Given the description of an element on the screen output the (x, y) to click on. 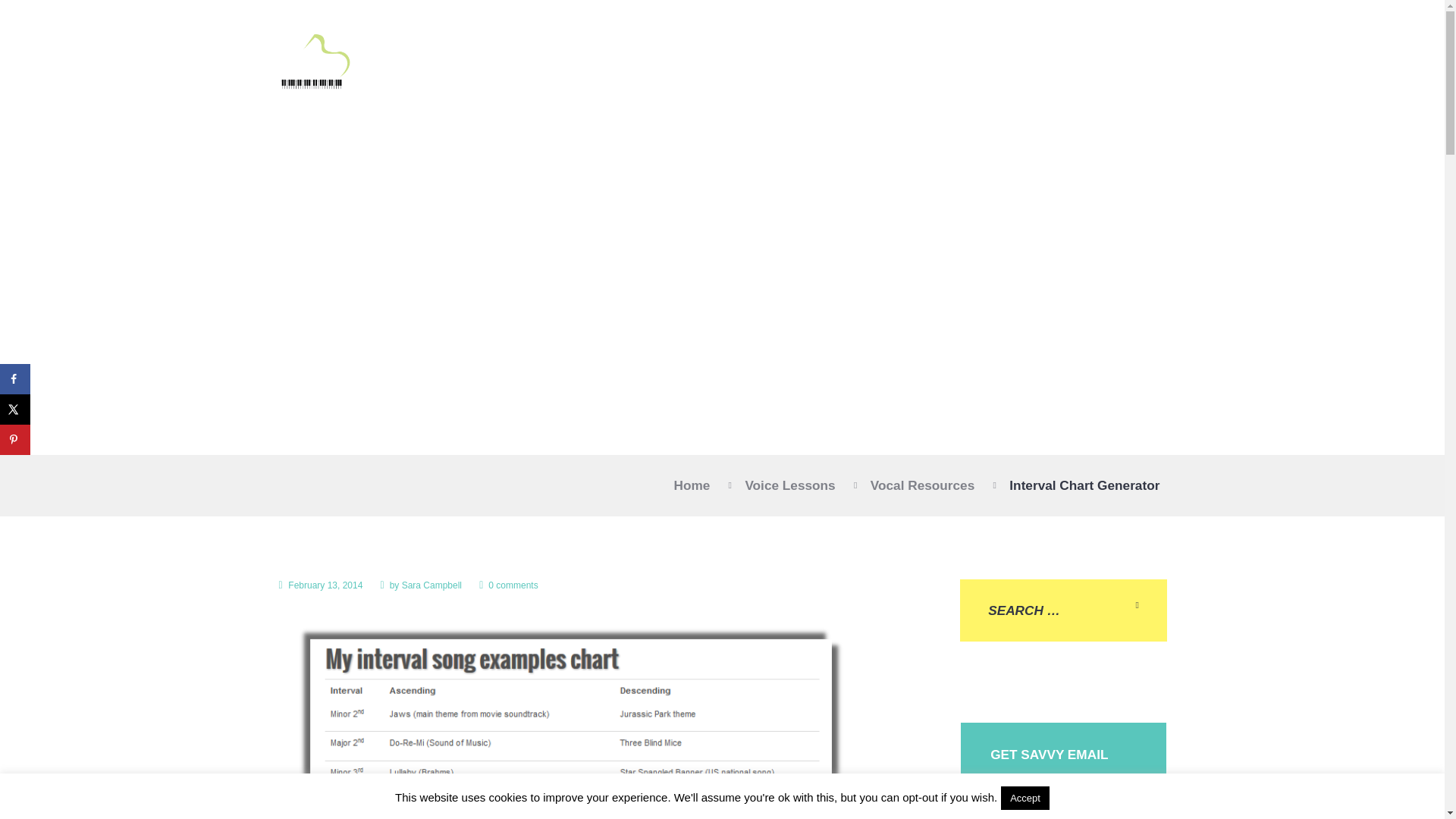
Vocal Resources (922, 485)
Sara Campbell (431, 584)
Interval Chart Generator (571, 716)
Comments - 0 (508, 585)
Search for: (1062, 609)
THE STUDIO (775, 66)
BLOG (1112, 66)
Voice Lessons (789, 485)
Share on X (15, 409)
BIZ COACHING (959, 66)
Home (691, 485)
Save to Pinterest (15, 440)
Share on Facebook (15, 378)
February 13, 2014 (320, 584)
